Given the description of an element on the screen output the (x, y) to click on. 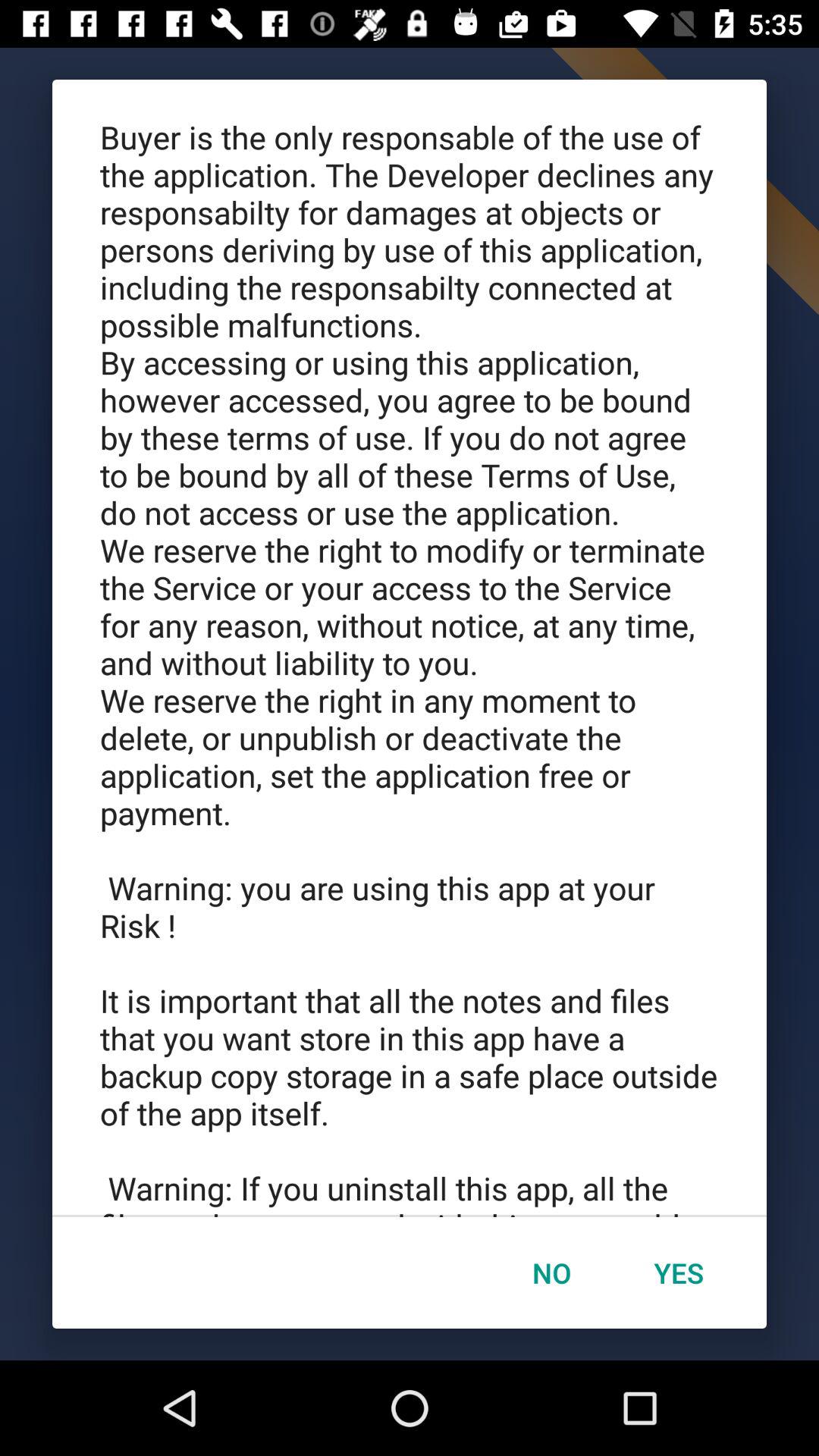
tap the icon to the right of no button (678, 1272)
